Given the description of an element on the screen output the (x, y) to click on. 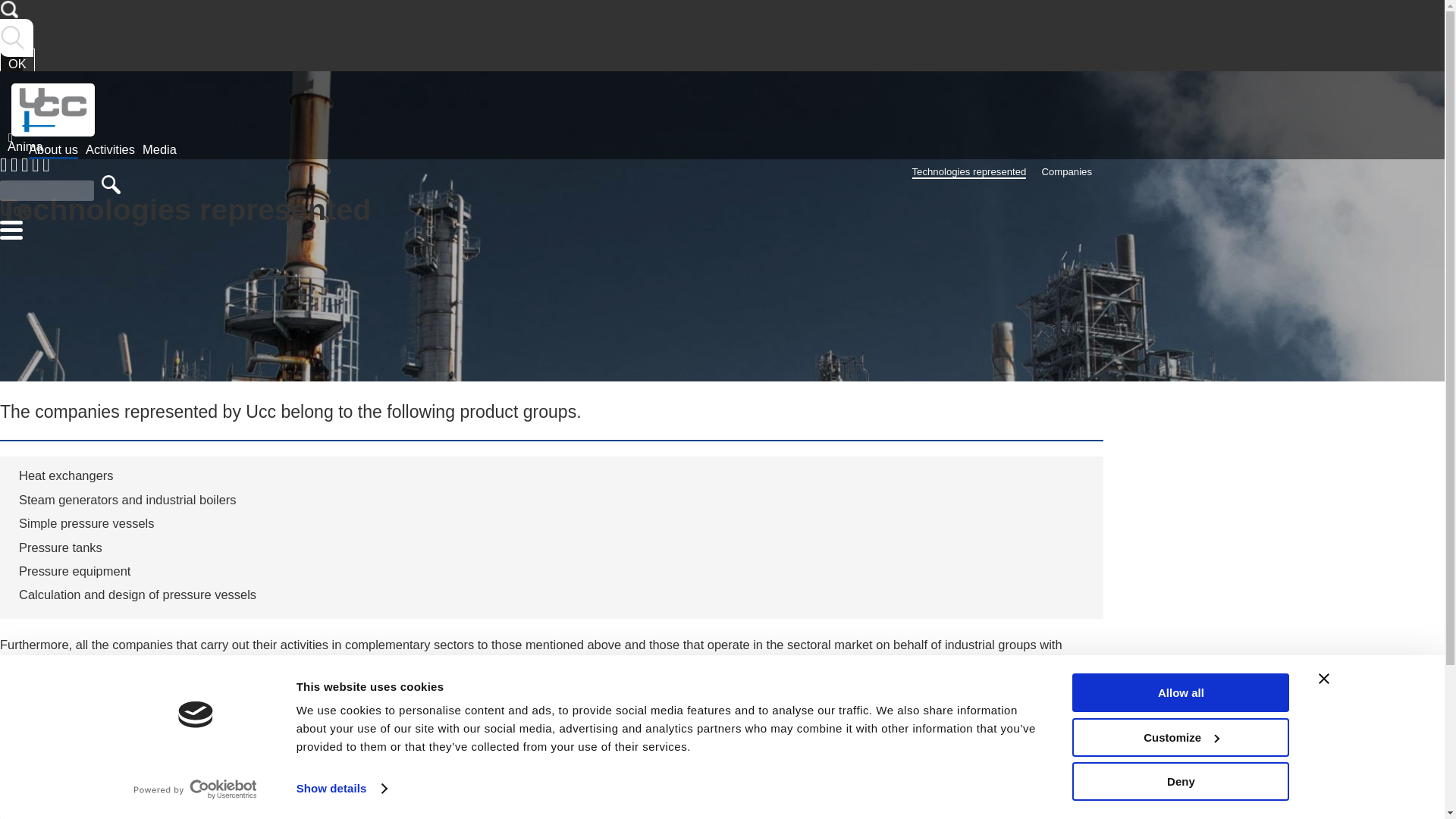
Customize (1179, 736)
Deny (1179, 781)
Show details (341, 788)
OK (17, 63)
Allow all (1179, 692)
